Given the description of an element on the screen output the (x, y) to click on. 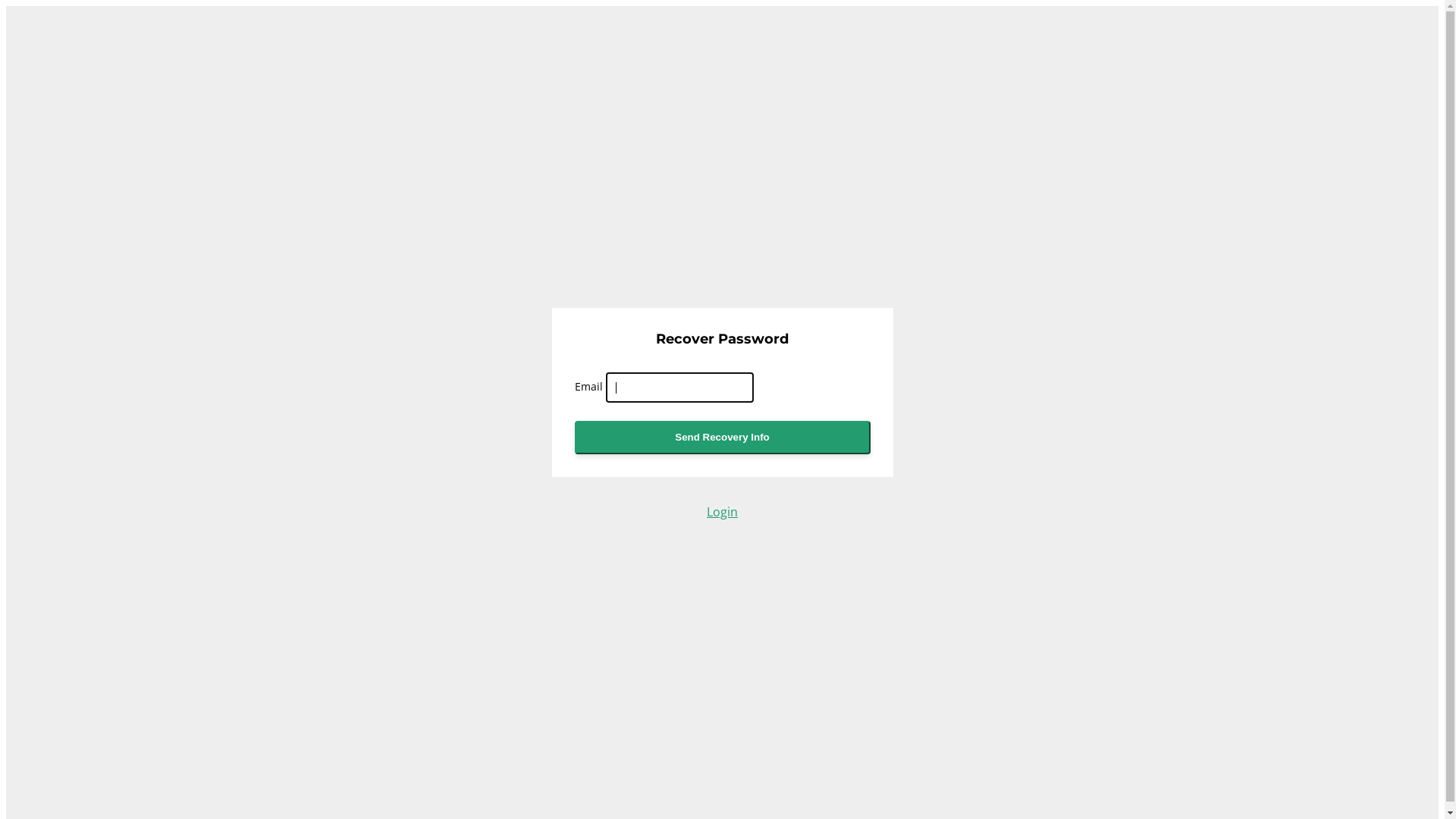
Login Element type: text (721, 512)
Send Recovery Info Element type: text (722, 437)
